Given the description of an element on the screen output the (x, y) to click on. 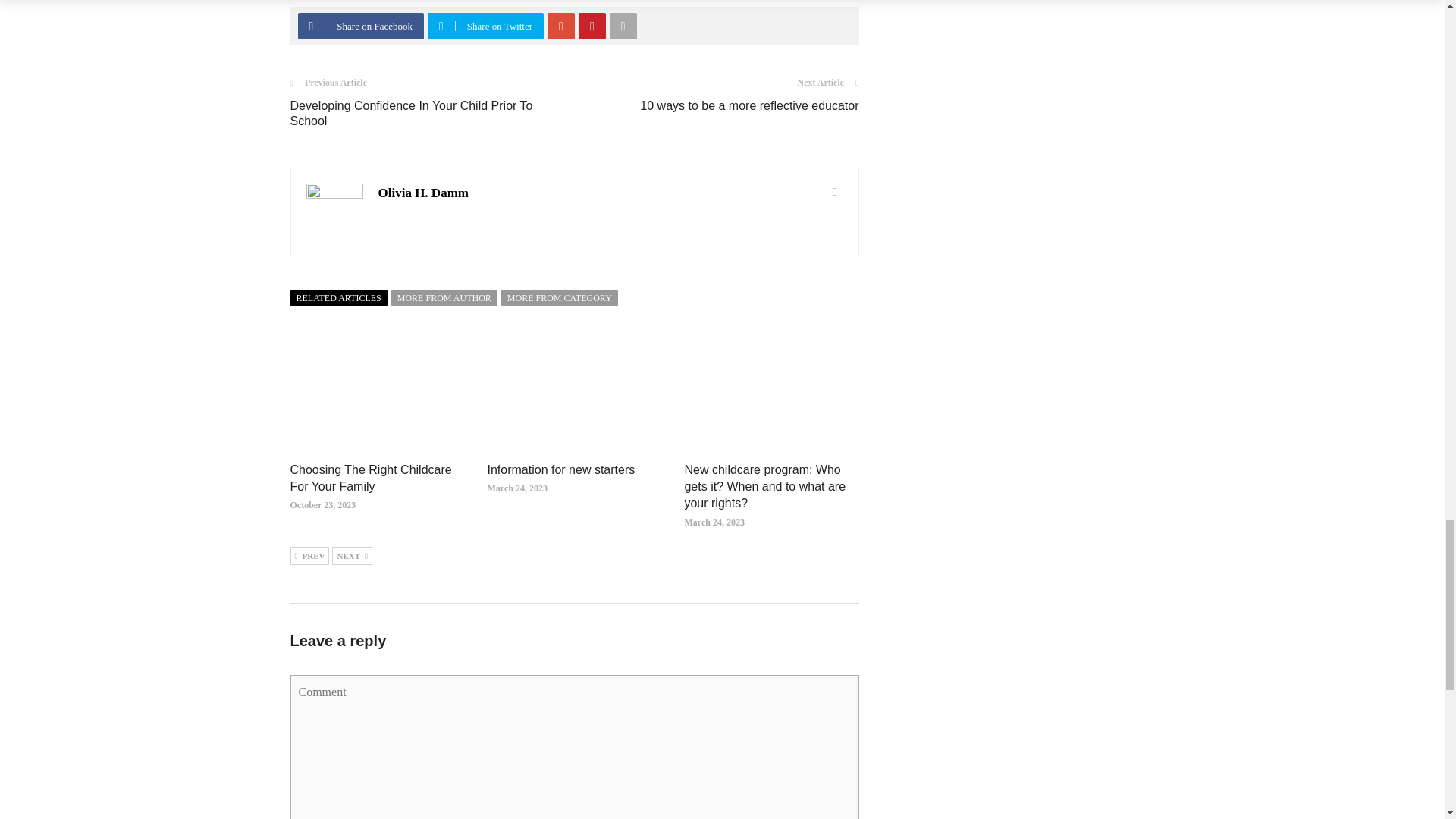
Share on Twitter (487, 26)
Olivia H. Damm (422, 192)
Share on Facebook (361, 26)
Developing Confidence In Your Child Prior To School (410, 113)
10 ways to be a more reflective educator (749, 105)
